Given the description of an element on the screen output the (x, y) to click on. 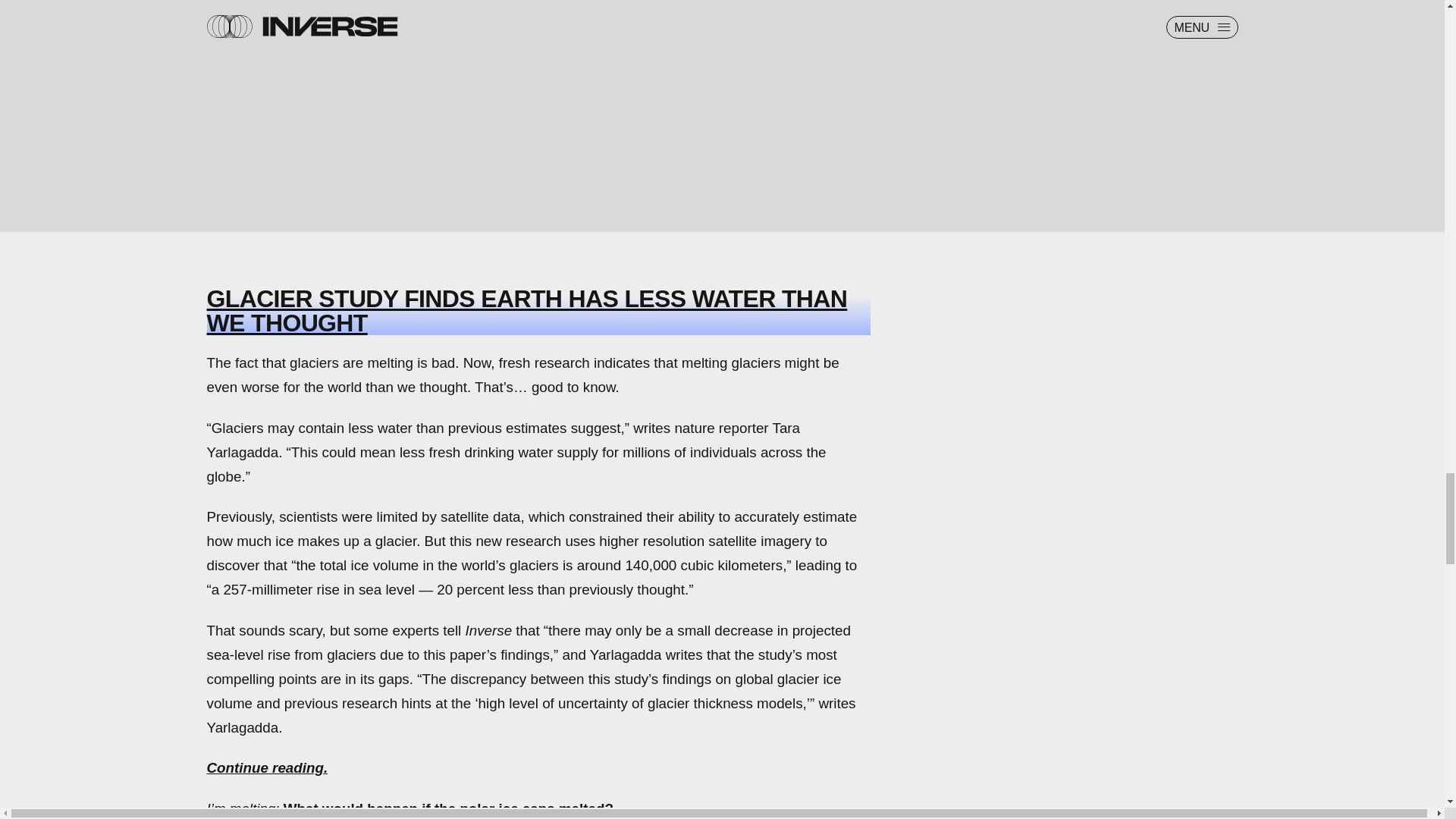
GLACIER STUDY FINDS EARTH HAS LESS WATER THAN WE THOUGHT (526, 310)
What would happen if the polar ice caps melted? (447, 808)
Continue reading. (266, 767)
